Given the description of an element on the screen output the (x, y) to click on. 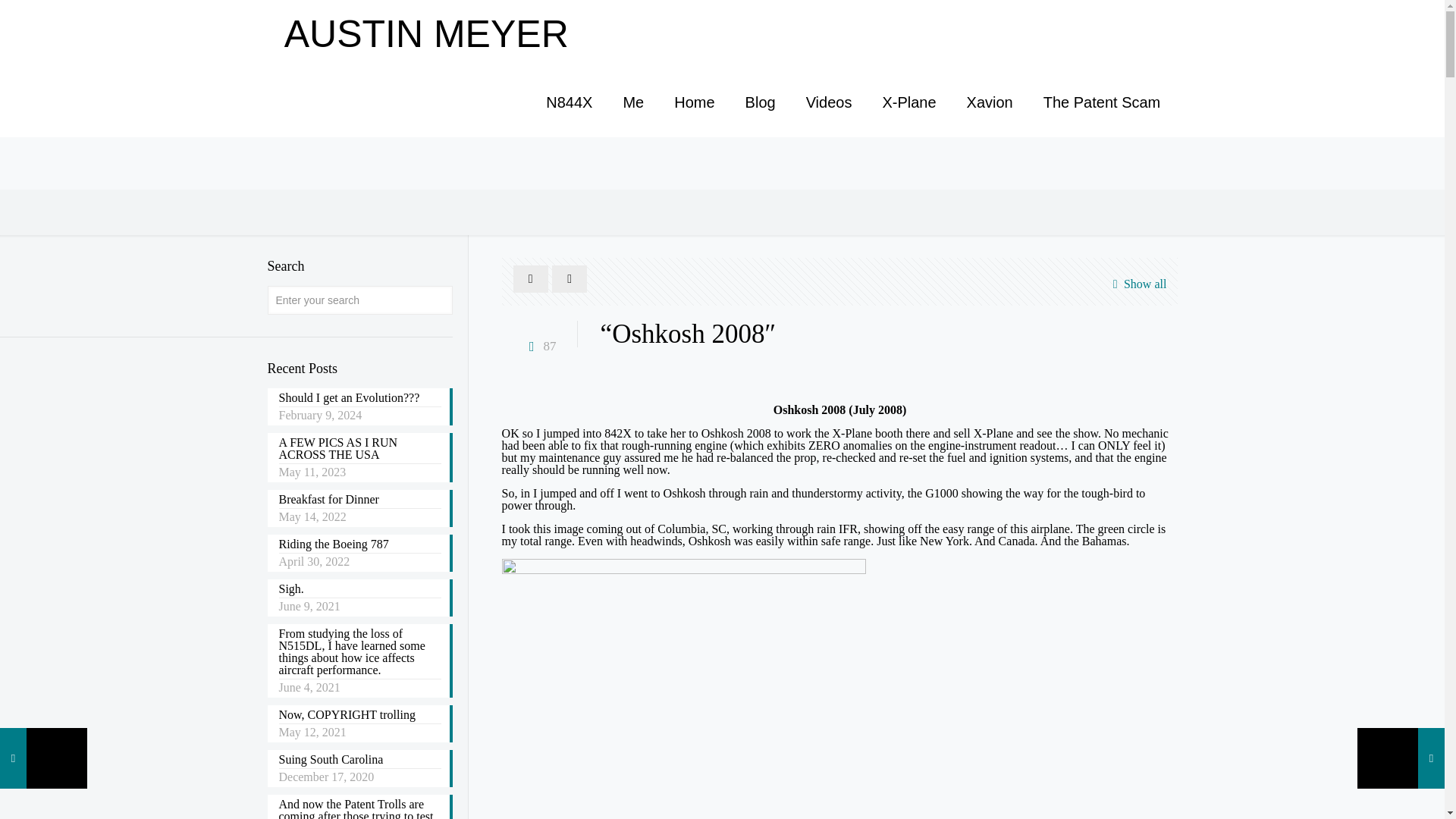
X-Plane (908, 101)
87 (539, 345)
The Patent Scam (1101, 101)
Sigh. (360, 590)
Austin Meyer (426, 33)
Riding the Boeing 787 (360, 545)
AUSTIN MEYER (426, 33)
N844X (569, 101)
Home (694, 101)
